Given the description of an element on the screen output the (x, y) to click on. 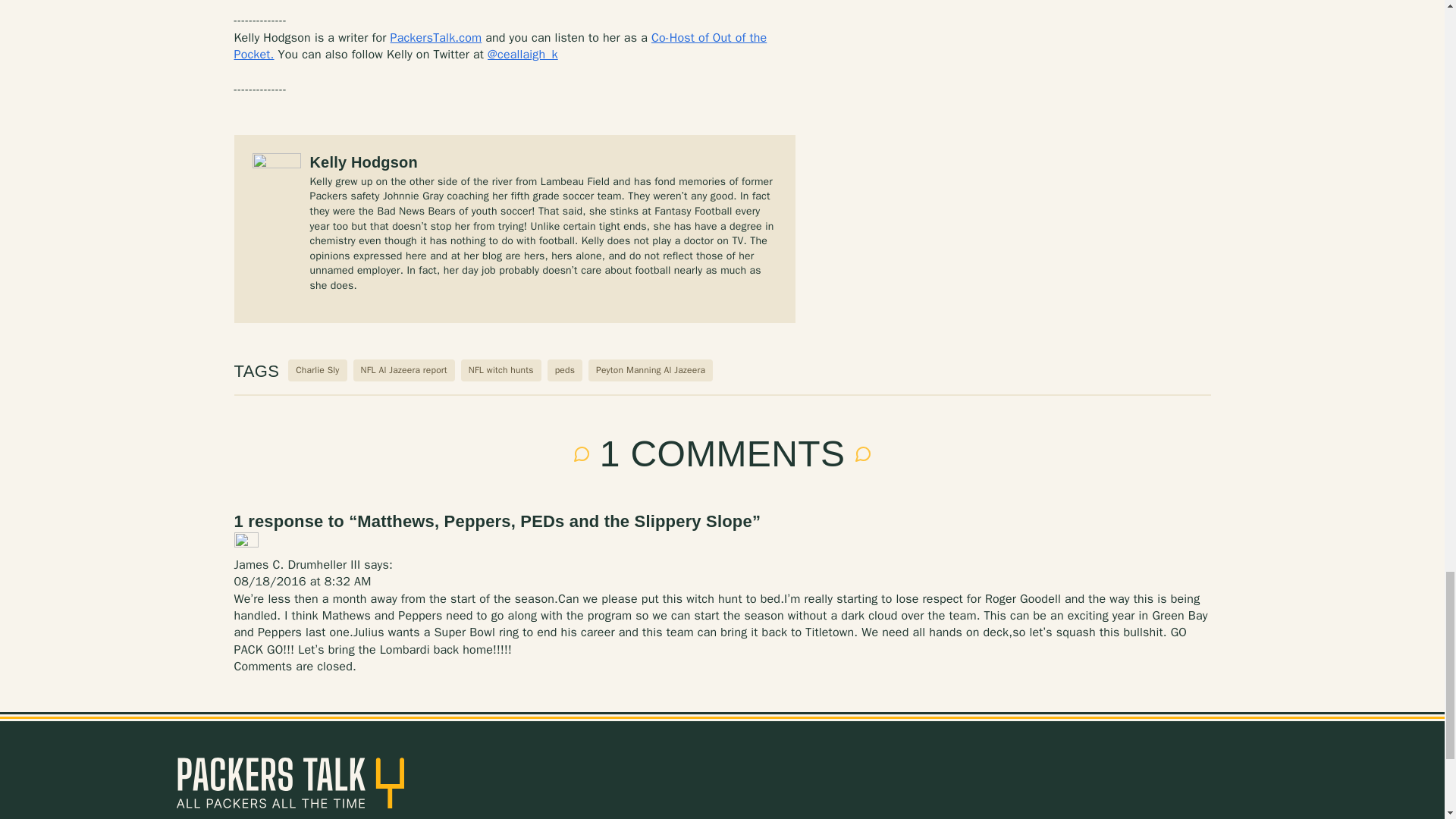
Co-Host of Out of the Pocket. (499, 46)
PackersTalk.com Blog Posts and Podcasts (289, 783)
Peyton Manning Al Jazeera (650, 370)
NFL Al Jazeera report (403, 370)
peds (564, 370)
Charlie Sly (317, 370)
NFL witch hunts (501, 370)
PackersTalk.com (435, 37)
